Given the description of an element on the screen output the (x, y) to click on. 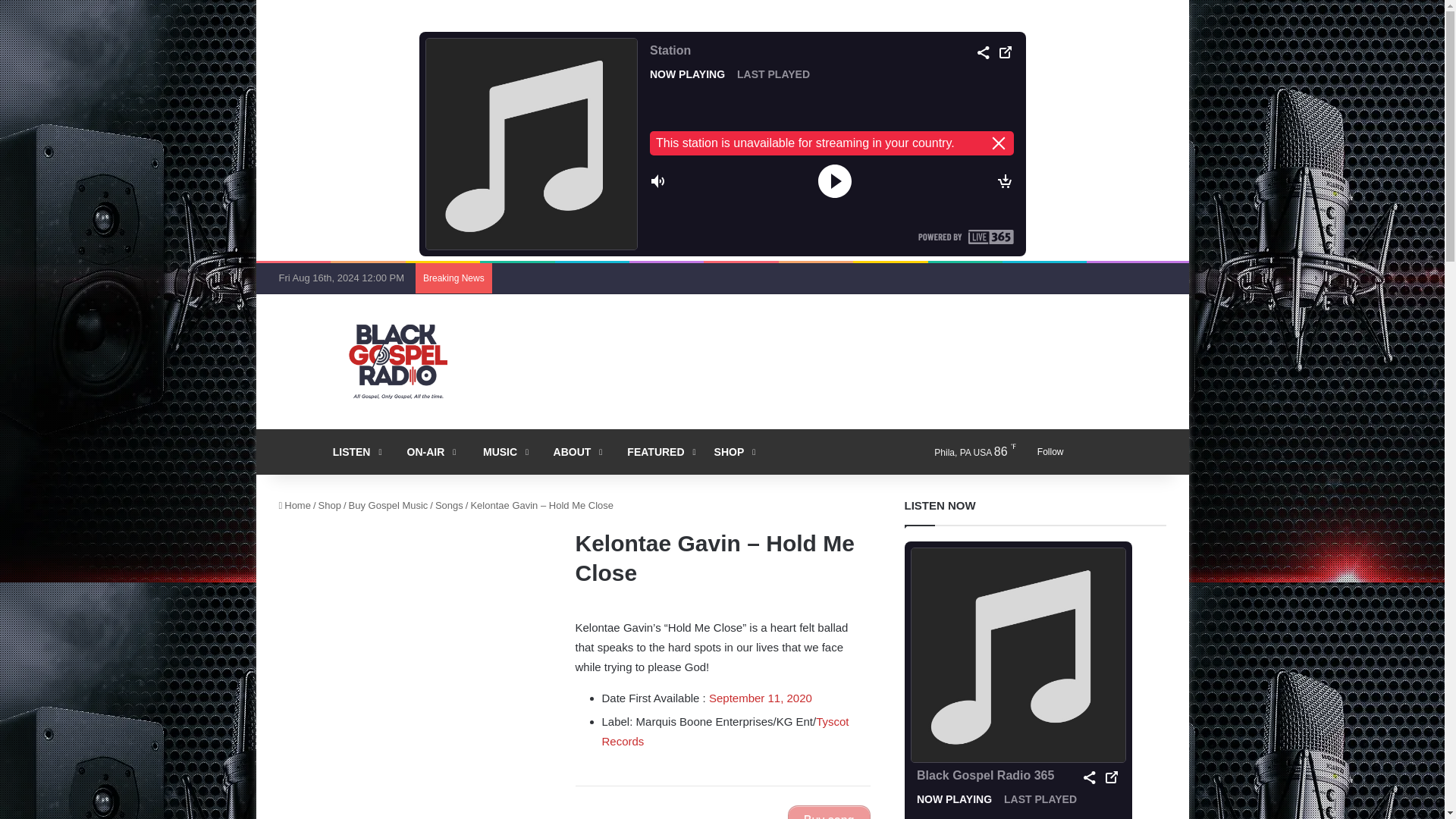
Clear Sky (961, 452)
LISTEN (352, 452)
ON-AIR (425, 452)
Black Gospel Radio (397, 361)
